Given the description of an element on the screen output the (x, y) to click on. 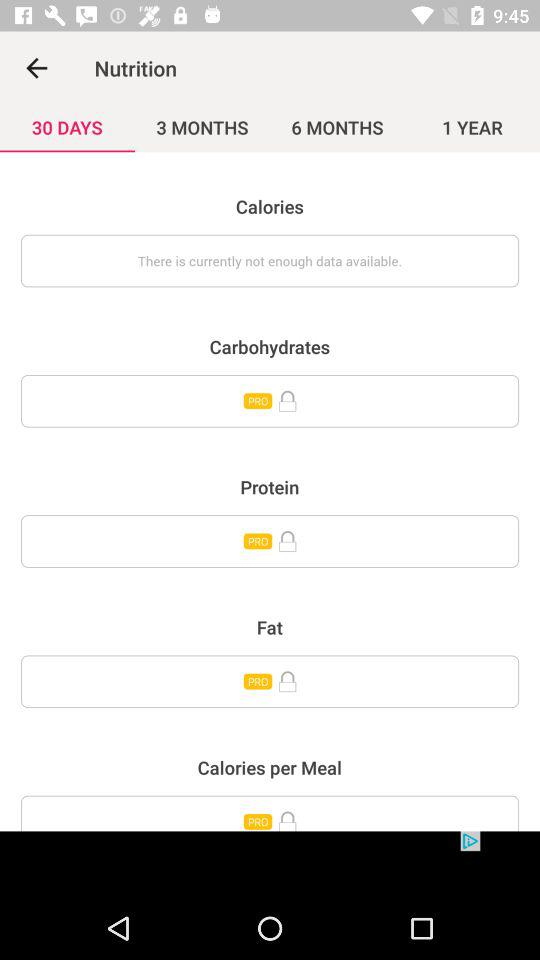
open to know (269, 541)
